Given the description of an element on the screen output the (x, y) to click on. 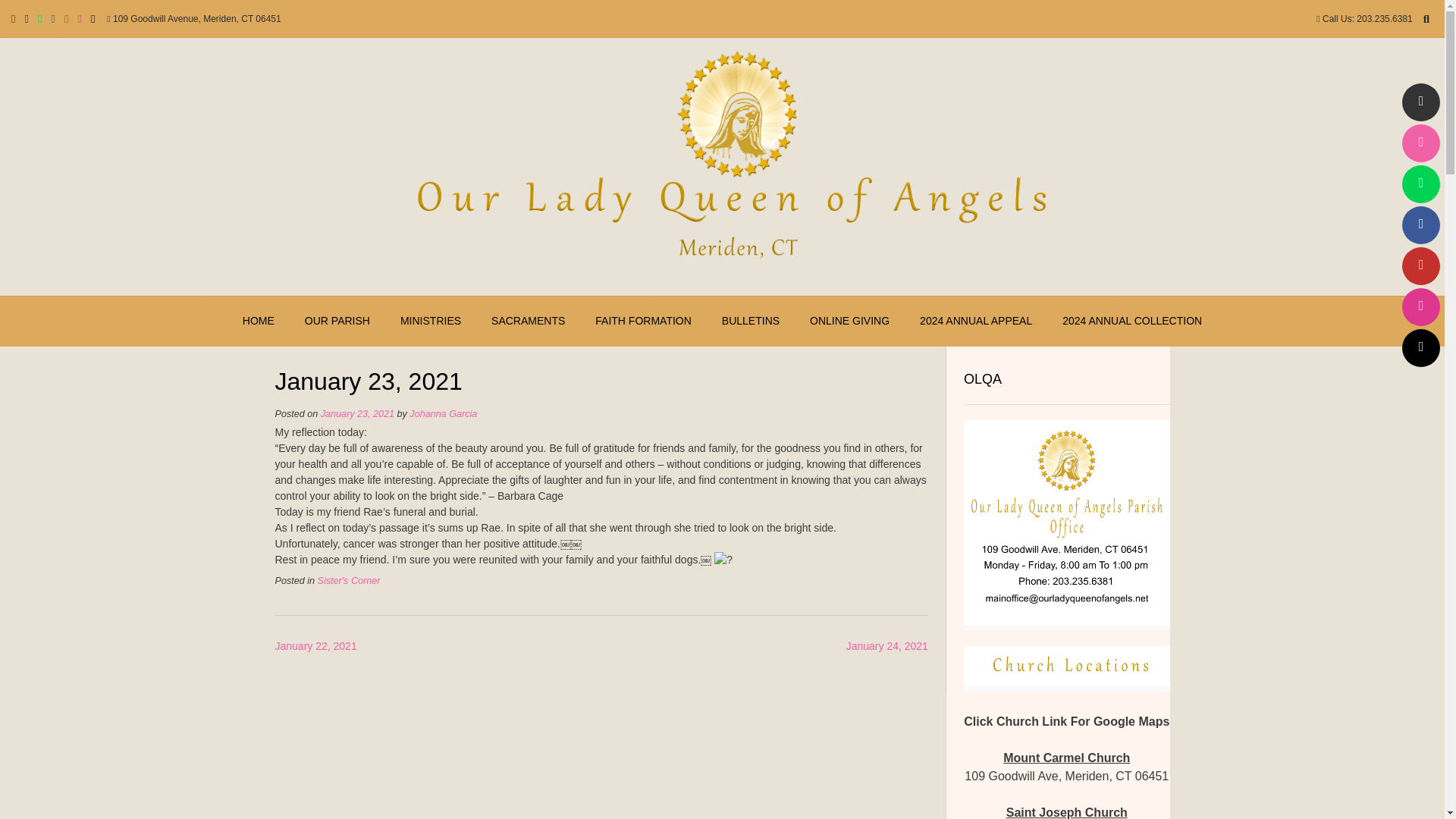
Contact Us on Whatsapp (39, 19)
View our YouTube Channel (1420, 266)
Call Us (1420, 143)
Send Us an Email (1420, 102)
HOME (258, 321)
MINISTRIES (430, 321)
Follow Us on Instagram (1420, 306)
Find Us on Facebook (1420, 225)
OUR PARISH (337, 321)
View our YouTube Channel (66, 19)
Send Us an Email (12, 19)
Call Us (25, 19)
Find Us on Facebook (52, 19)
Contact Us on Whatsapp (1420, 184)
